Given the description of an element on the screen output the (x, y) to click on. 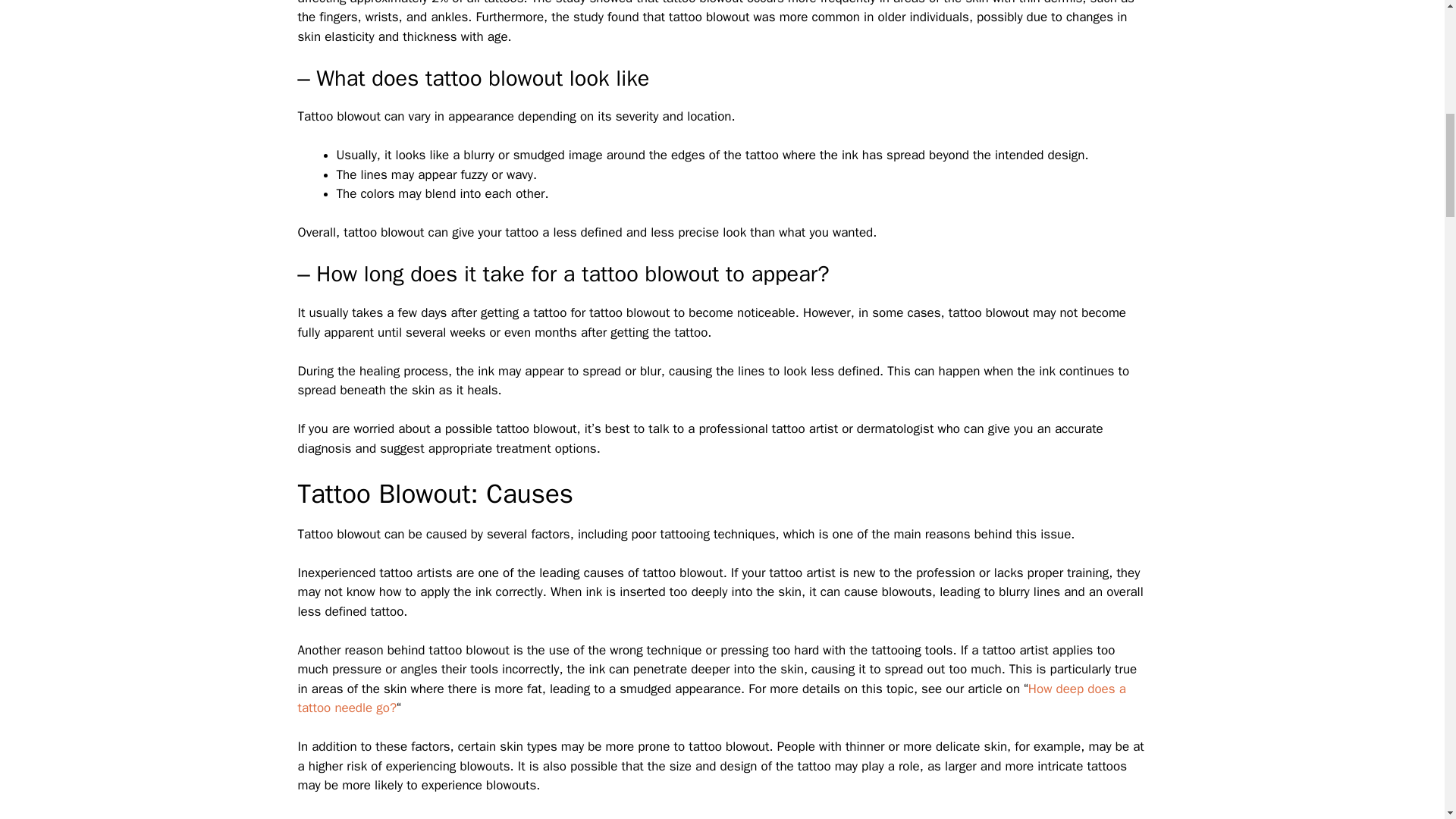
How deep does a tattoo needle go? (711, 698)
